Given the description of an element on the screen output the (x, y) to click on. 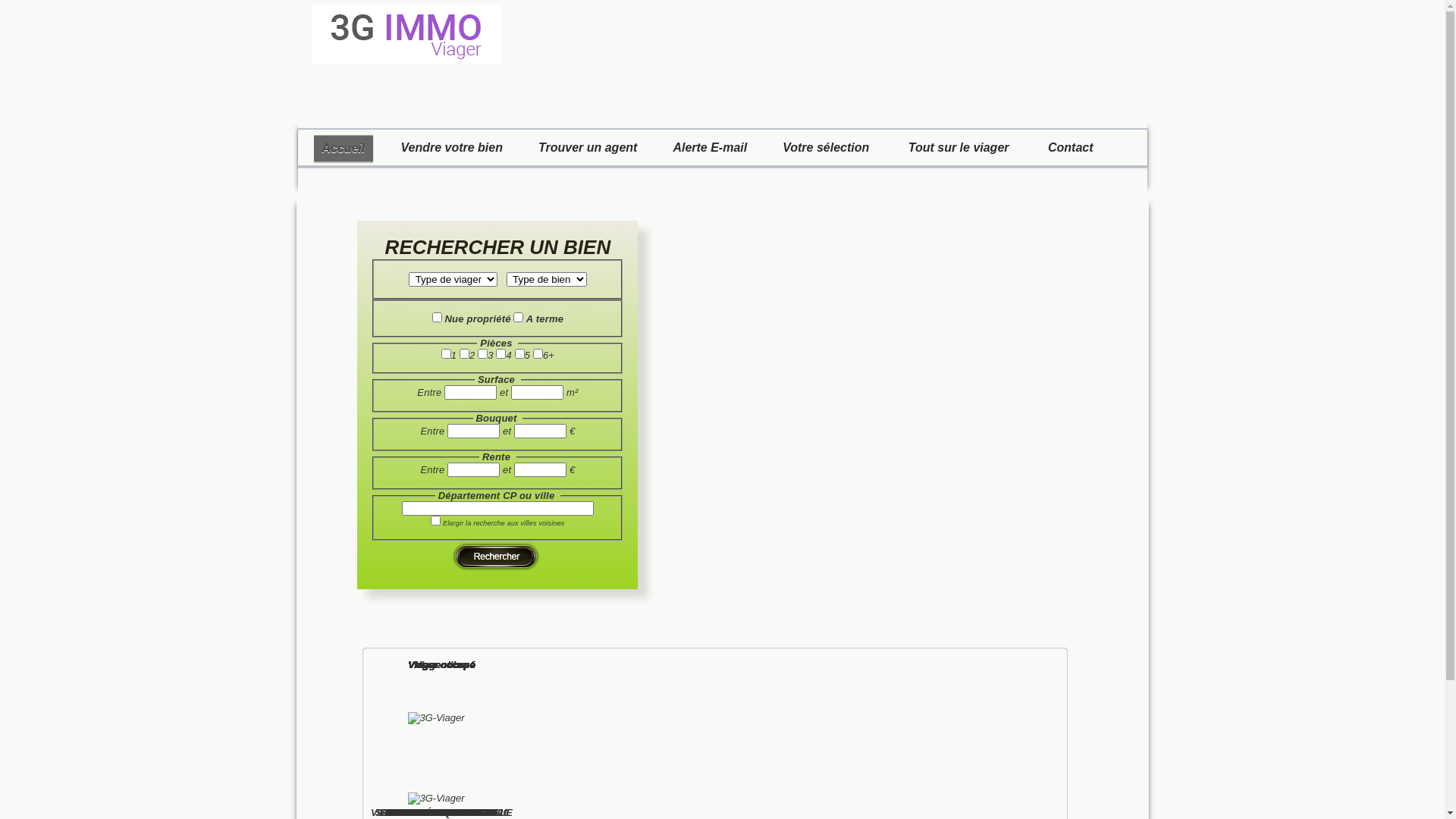
 Tout sur le viager Element type: text (956, 147)
Alerte E-mail Element type: text (709, 147)
Trouver un agent Element type: text (587, 147)
Accueil Element type: text (343, 148)
Vendre votre bien Element type: text (451, 147)
 Contact  Element type: text (1070, 147)
